Given the description of an element on the screen output the (x, y) to click on. 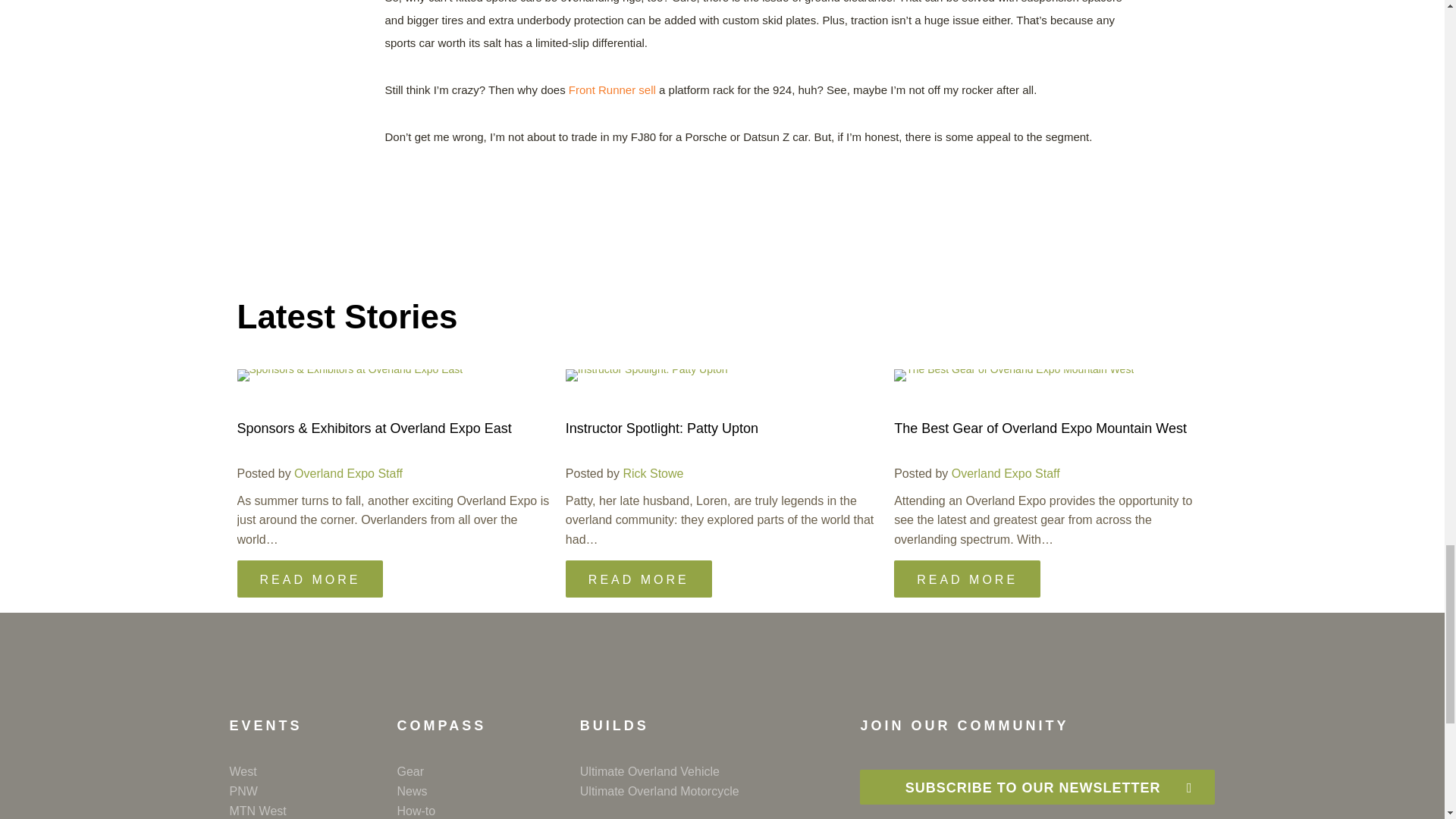
West (312, 772)
Overland Expo Staff (348, 472)
Overland Expo Staff (1005, 472)
Rick Stowe (652, 472)
READ MORE (967, 578)
Instructor Spotlight: Patty Upton (662, 427)
READ MORE (308, 578)
READ MORE (638, 578)
The Best Gear of Overland Expo Mountain West (1039, 427)
Front Runner sell (611, 89)
